Given the description of an element on the screen output the (x, y) to click on. 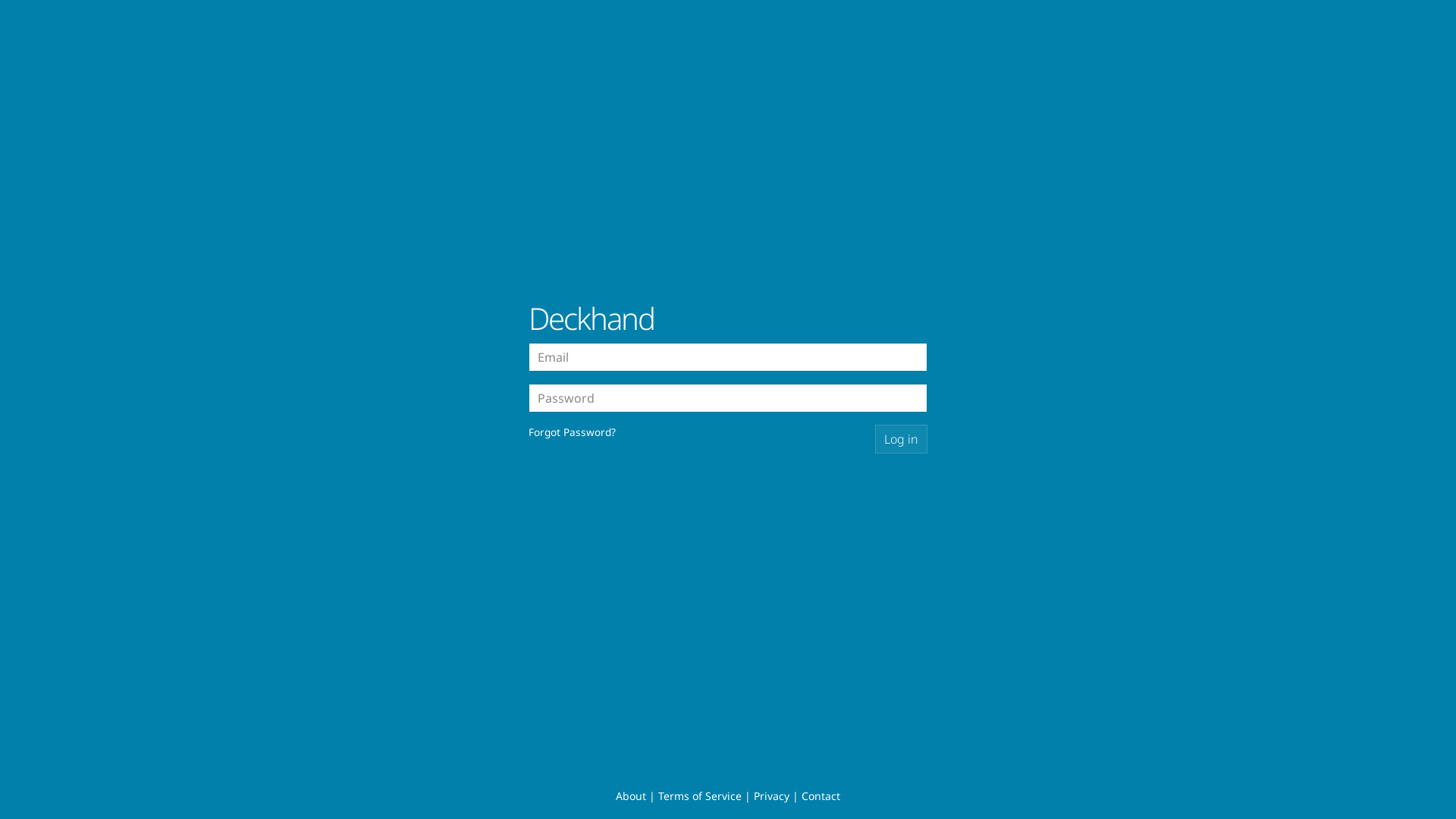
Log in Element type: text (901, 438)
Terms of Service Element type: text (699, 795)
Privacy Element type: text (771, 795)
About Element type: text (630, 795)
Forgot Password? Element type: text (571, 431)
Contact Element type: text (820, 795)
